Given the description of an element on the screen output the (x, y) to click on. 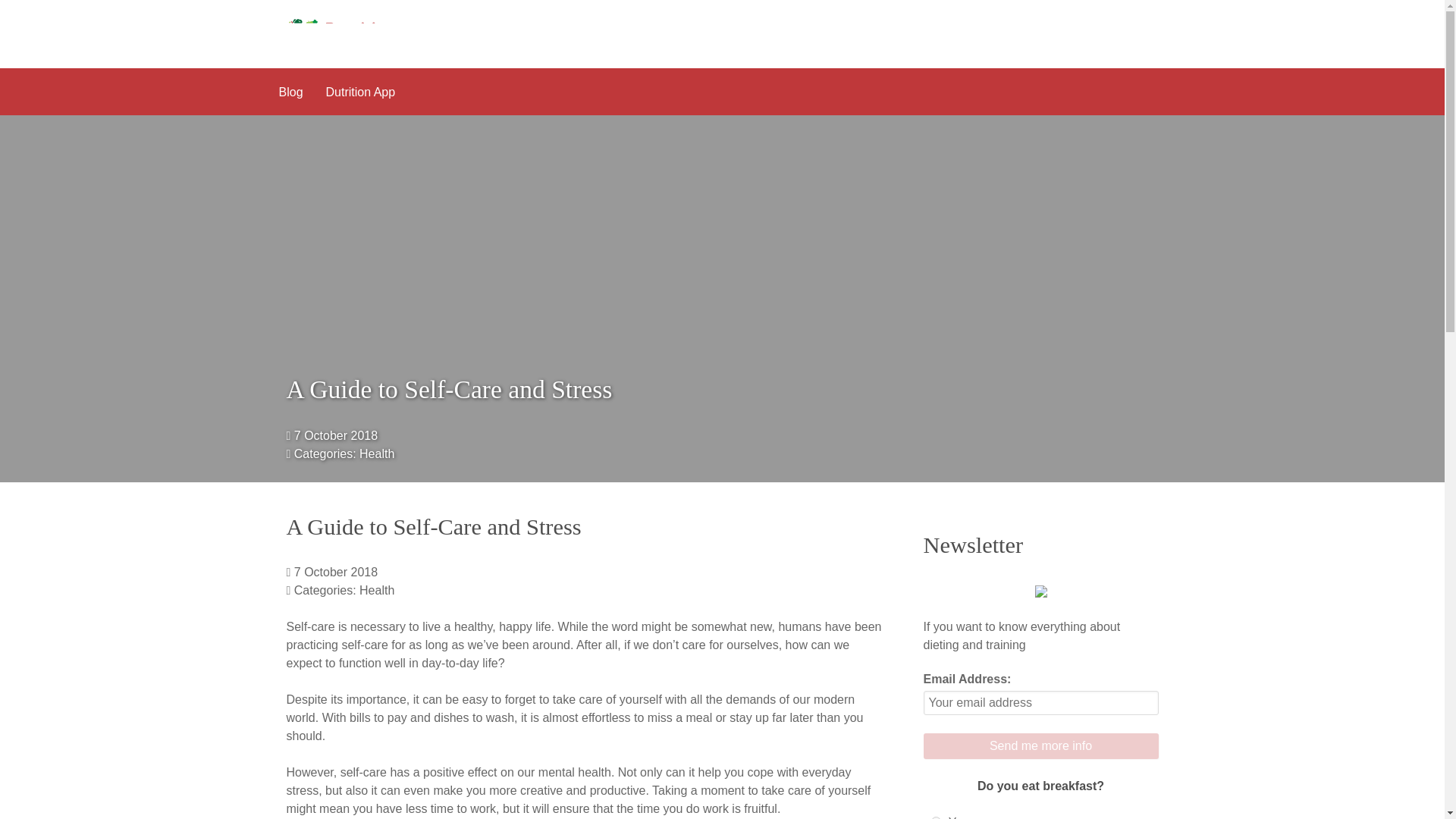
Blog (290, 91)
Send me more info (1040, 746)
Dutrition App (360, 91)
Send me more info (1040, 746)
Dutrition (343, 33)
